Given the description of an element on the screen output the (x, y) to click on. 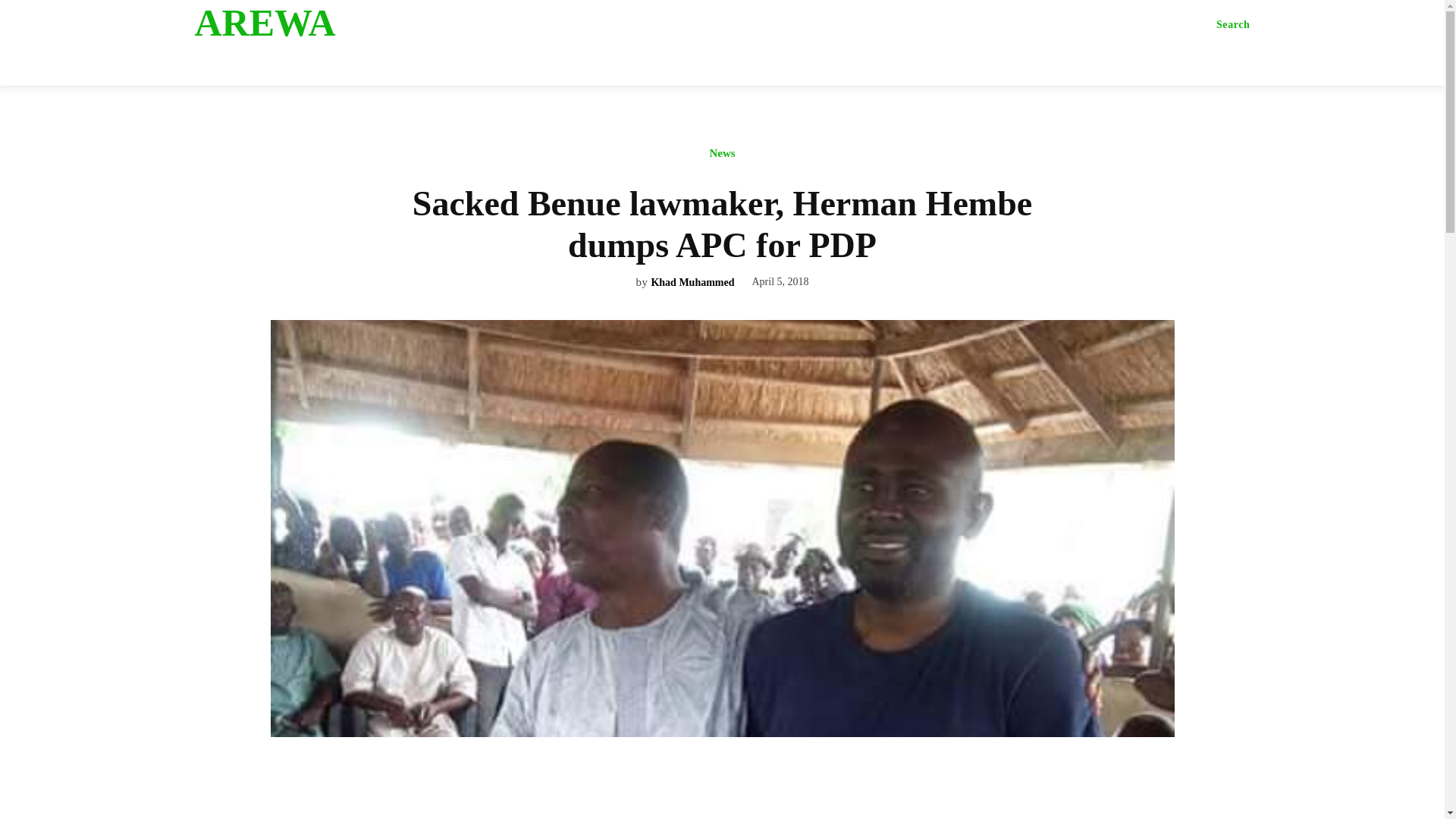
Search (1232, 24)
Khad Muhammed (691, 282)
AREWA (311, 22)
News (721, 156)
